Given the description of an element on the screen output the (x, y) to click on. 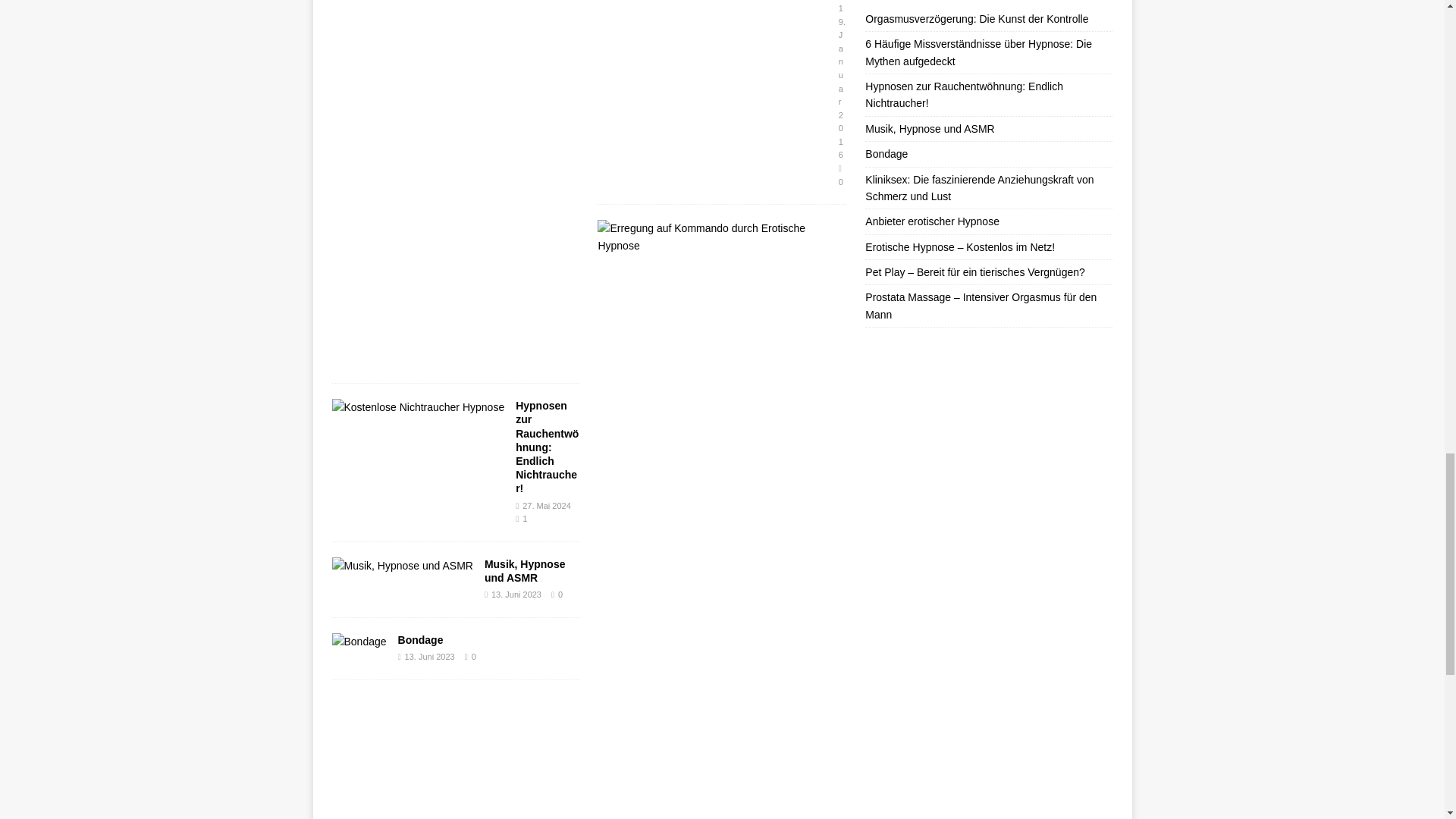
Musik, Hypnose und ASMR (402, 565)
1 (524, 518)
Musik, Hypnose und ASMR (525, 570)
13. Juni 2023 (429, 655)
Musik, Hypnose und ASMR (525, 570)
0 (559, 593)
13. Juni 2023 (516, 593)
Bondage (359, 641)
Bondage (420, 639)
Bondage (420, 639)
0 (840, 181)
27. Mai 2024 (546, 505)
0 (473, 655)
